Given the description of an element on the screen output the (x, y) to click on. 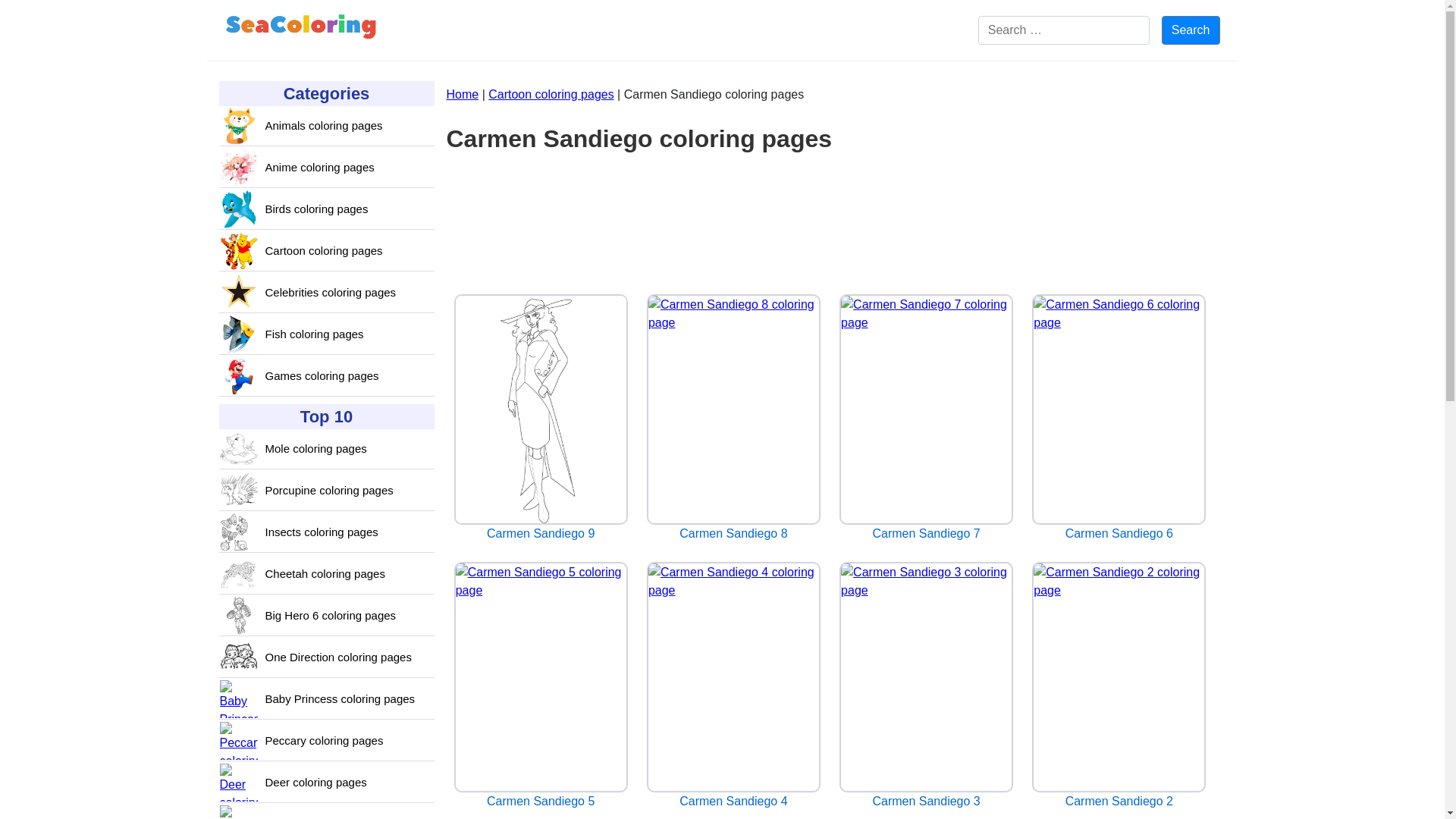
Porcupine coloring pages (328, 490)
Celebrities coloring pages (330, 293)
Digimon coloring pages (324, 817)
One Direction coloring pages (338, 657)
Fish coloring pages (314, 334)
Cheetah coloring pages (324, 574)
Peccary coloring pages (324, 741)
Home (462, 93)
Games coloring pages (321, 375)
Insects coloring pages (321, 532)
